Given the description of an element on the screen output the (x, y) to click on. 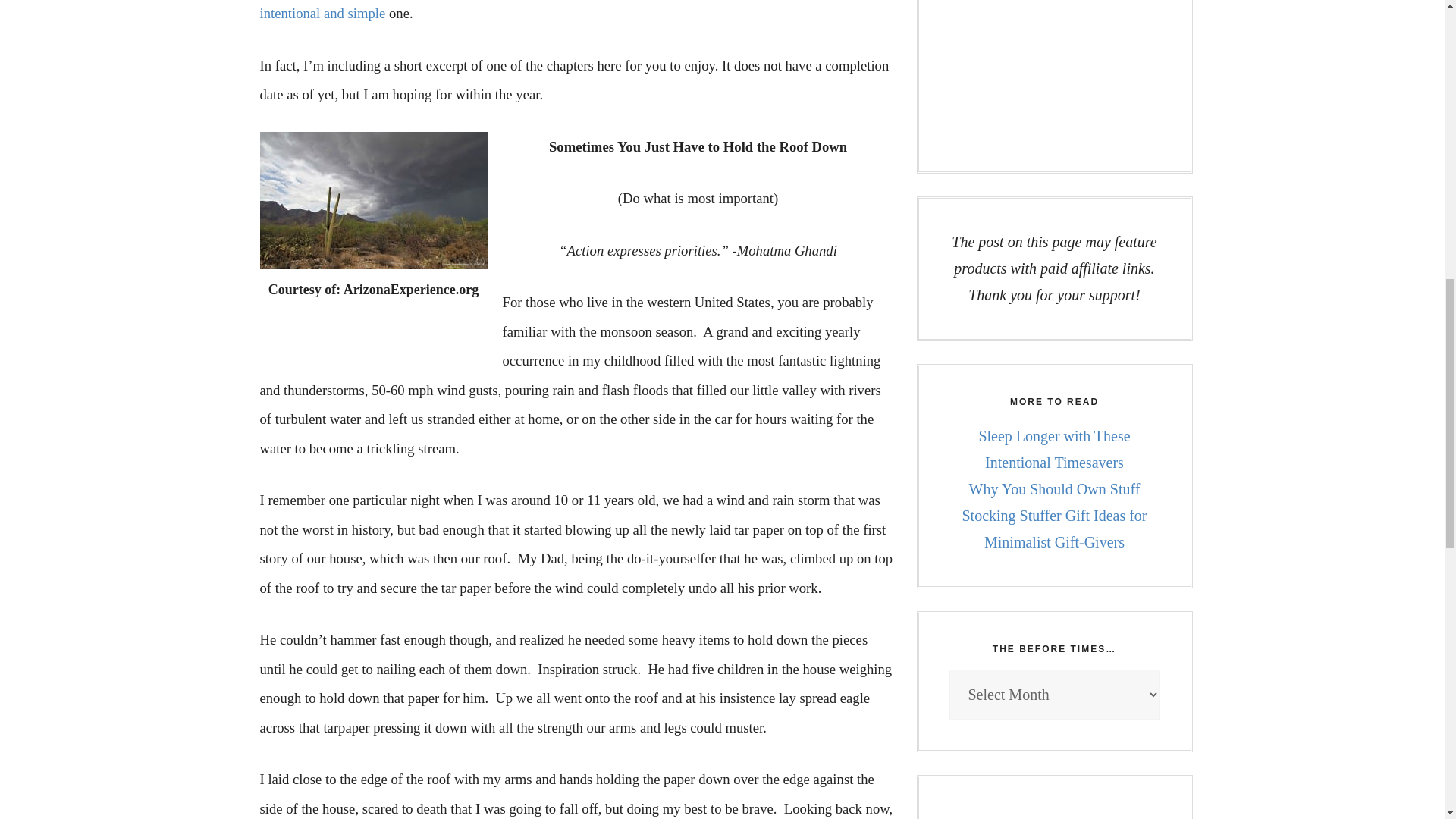
Advertisement (1054, 70)
Stocking Stuffer Gift Ideas for Minimalist Gift-Givers (1053, 528)
intentional and simple (322, 12)
Why You Should Own Stuff (1054, 488)
Sleep Longer with These Intentional Timesavers (1053, 448)
